Given the description of an element on the screen output the (x, y) to click on. 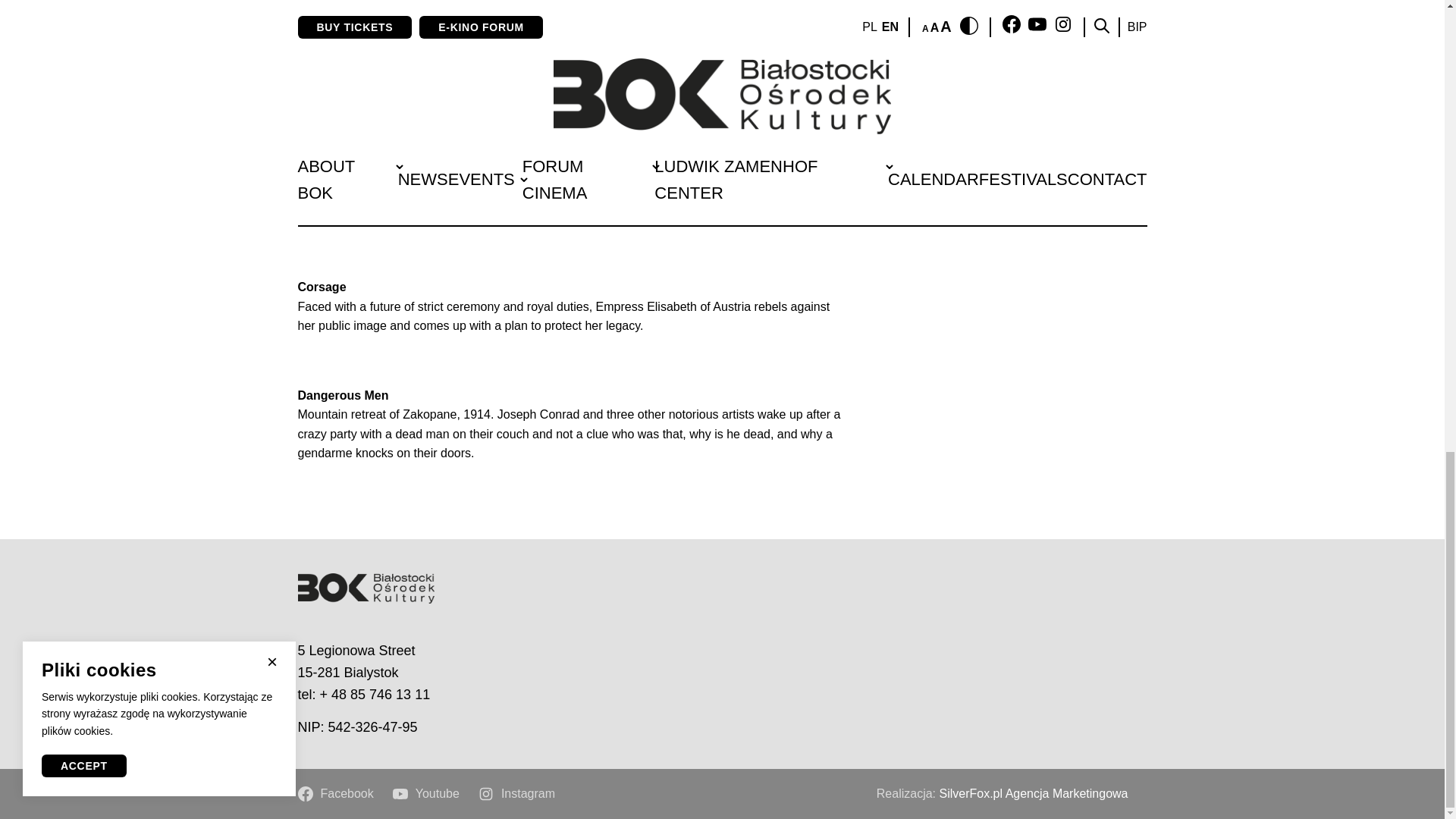
bilety.bok.bialystok.pl (608, 51)
